Given the description of an element on the screen output the (x, y) to click on. 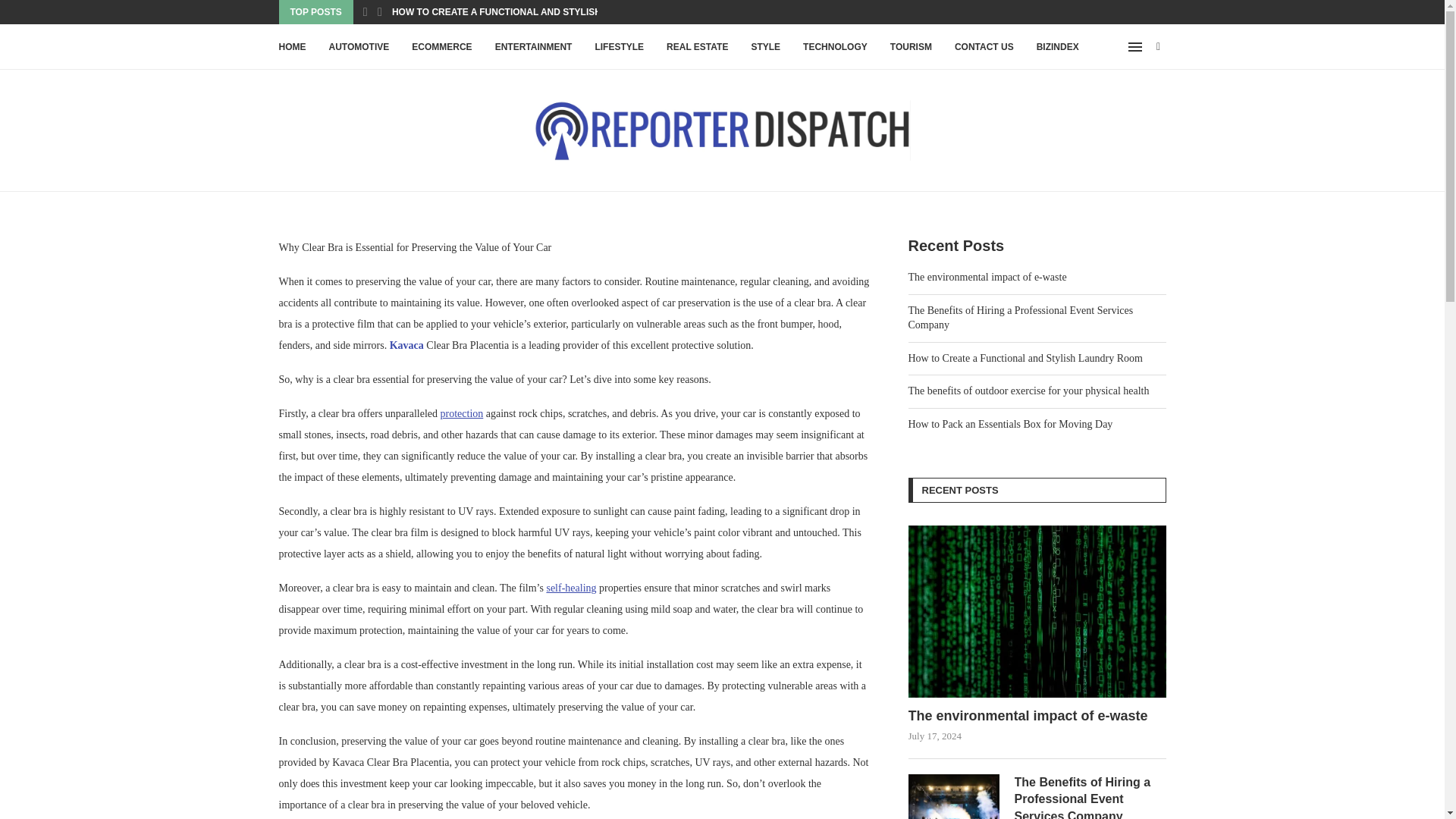
Kavaca (406, 345)
BIZINDEX (1057, 46)
HOW TO CREATE A FUNCTIONAL AND STYLISH LAUNDRY... (522, 12)
The Benefits of Hiring a Professional Event Services Company (953, 796)
STYLE (765, 46)
AUTOMOTIVE (359, 46)
The Benefits of Hiring a Professional Event Services Company (1090, 796)
CONTACT US (984, 46)
ENTERTAINMENT (533, 46)
REAL ESTATE (697, 46)
ECOMMERCE (441, 46)
HOME (292, 46)
The environmental impact of e-waste (1037, 715)
TOURISM (910, 46)
The environmental impact of e-waste (1037, 611)
